Given the description of an element on the screen output the (x, y) to click on. 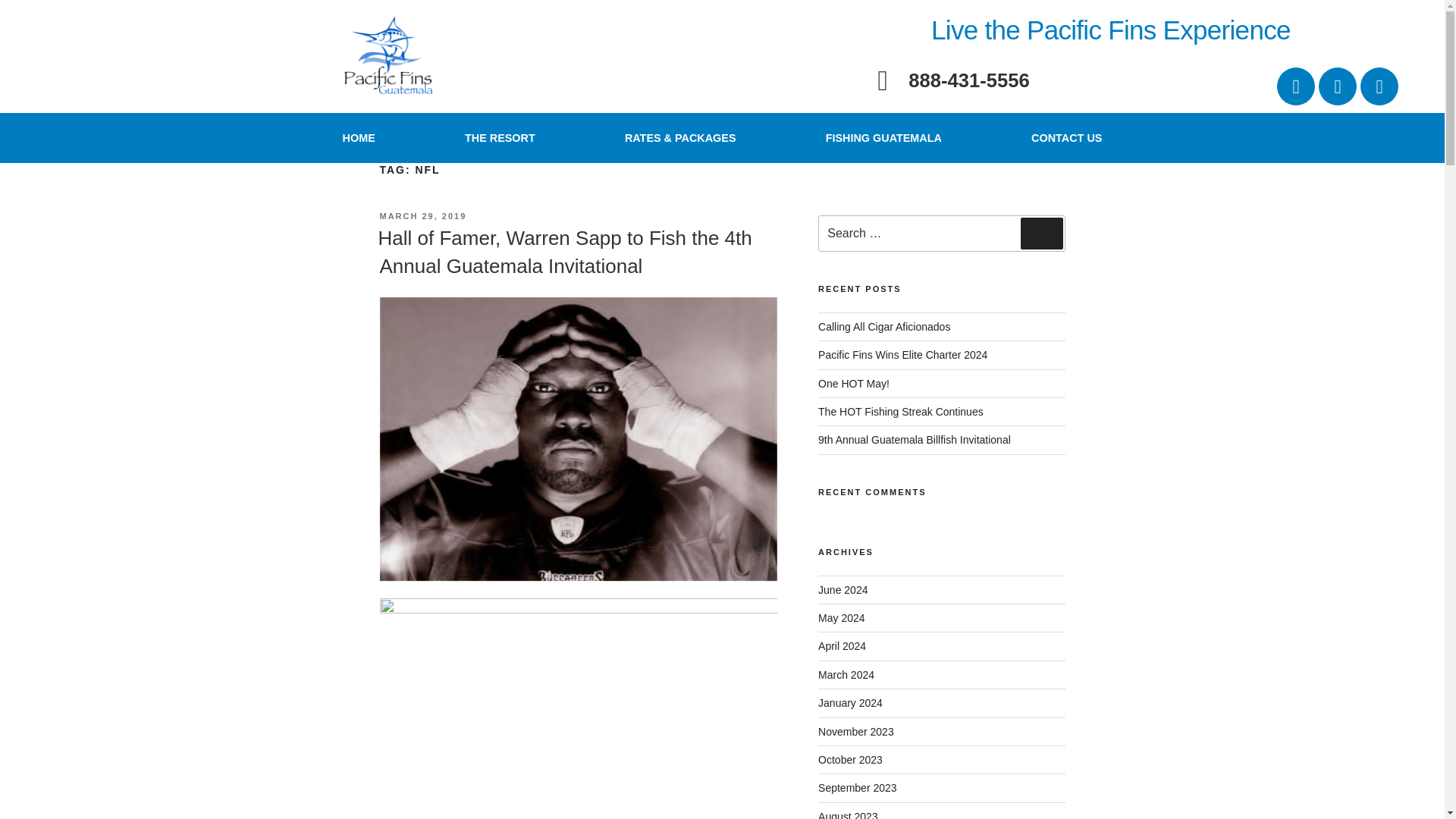
THE RESORT (499, 137)
FISHING GUATEMALA (883, 137)
HOME (358, 137)
CONTACT US (1067, 137)
